Given the description of an element on the screen output the (x, y) to click on. 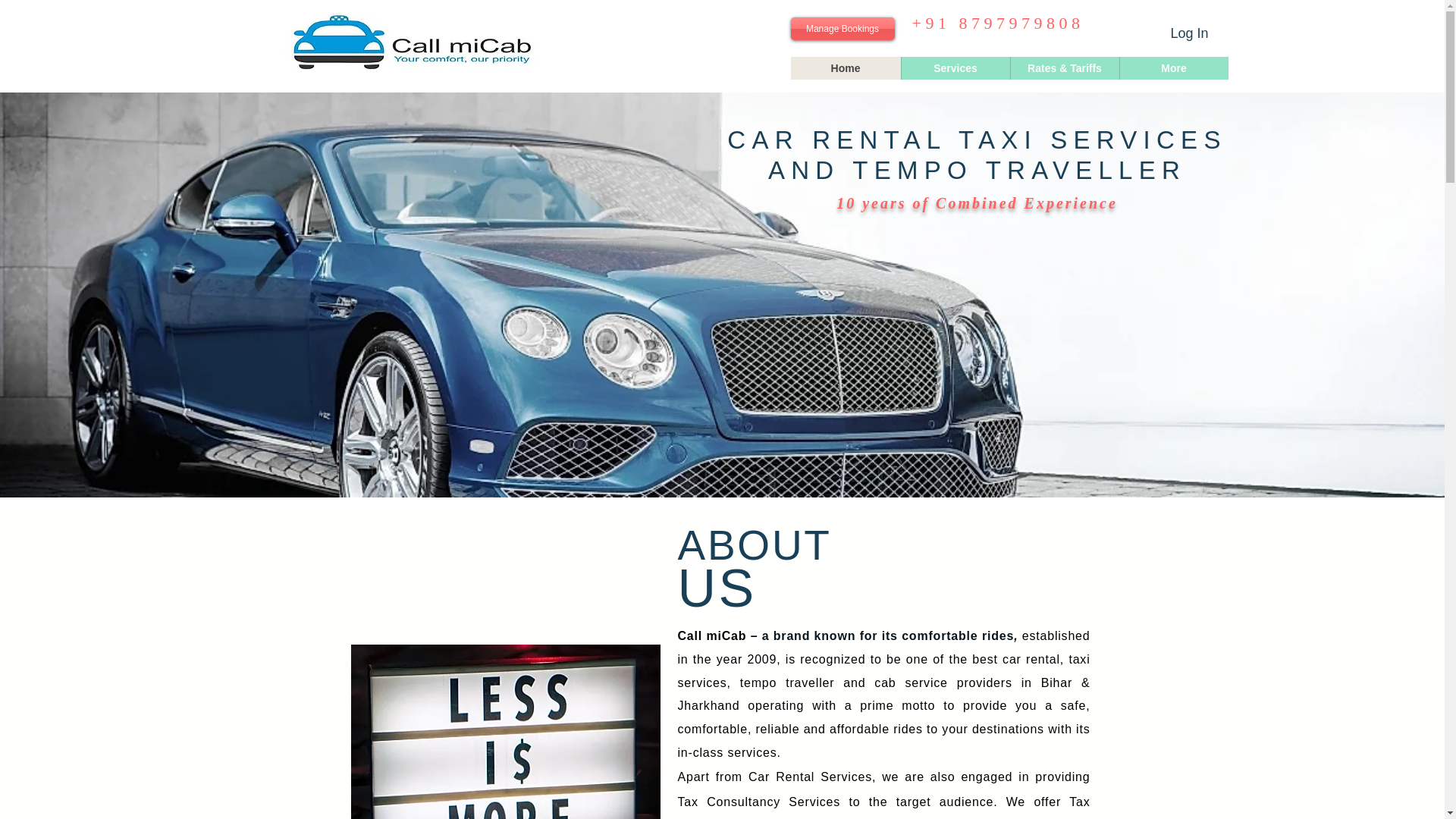
Manage Bookings (841, 28)
Home (844, 67)
Services (955, 67)
Log In (1188, 33)
